Given the description of an element on the screen output the (x, y) to click on. 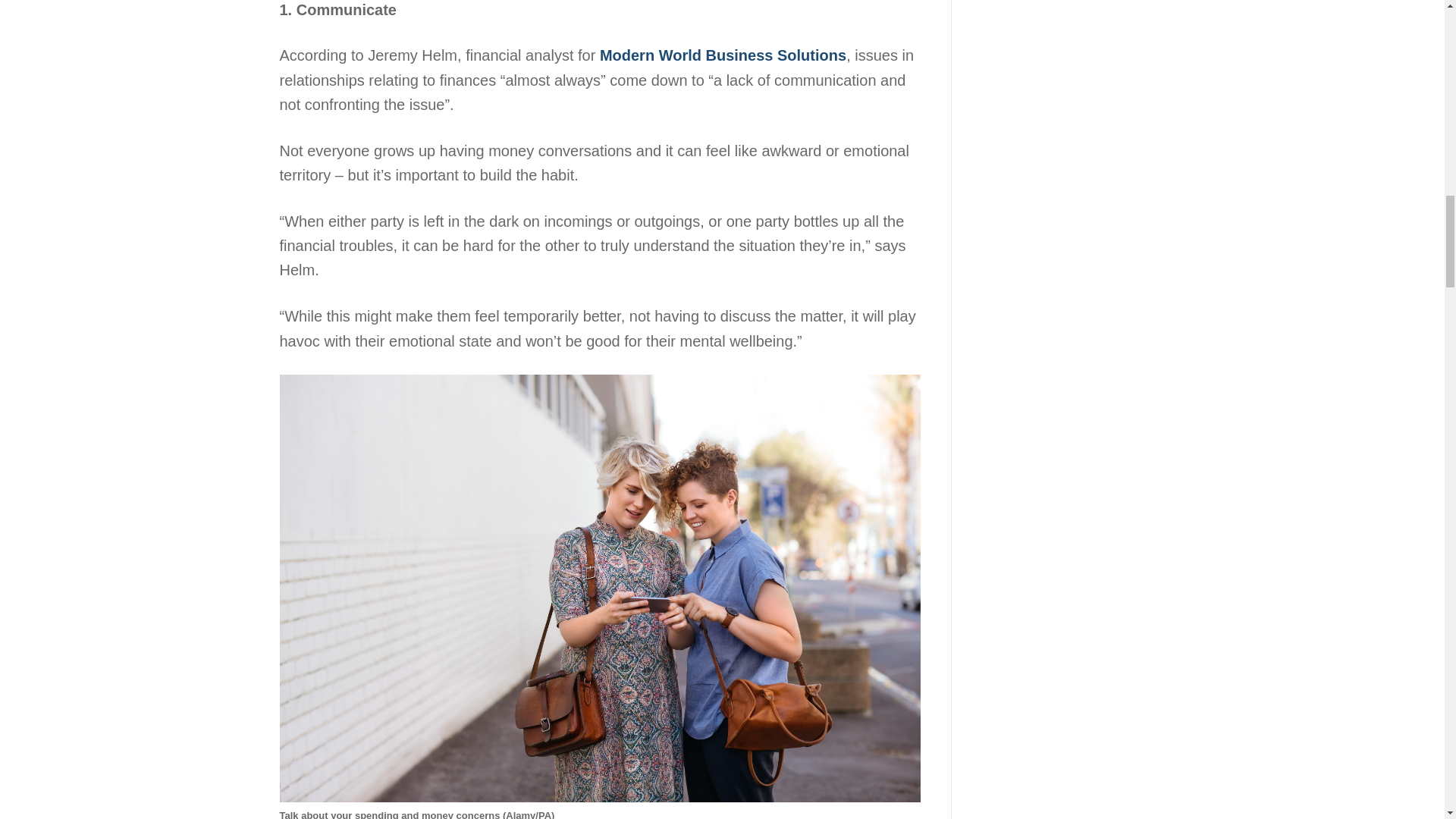
Modern World Business Solutions (722, 54)
